Given the description of an element on the screen output the (x, y) to click on. 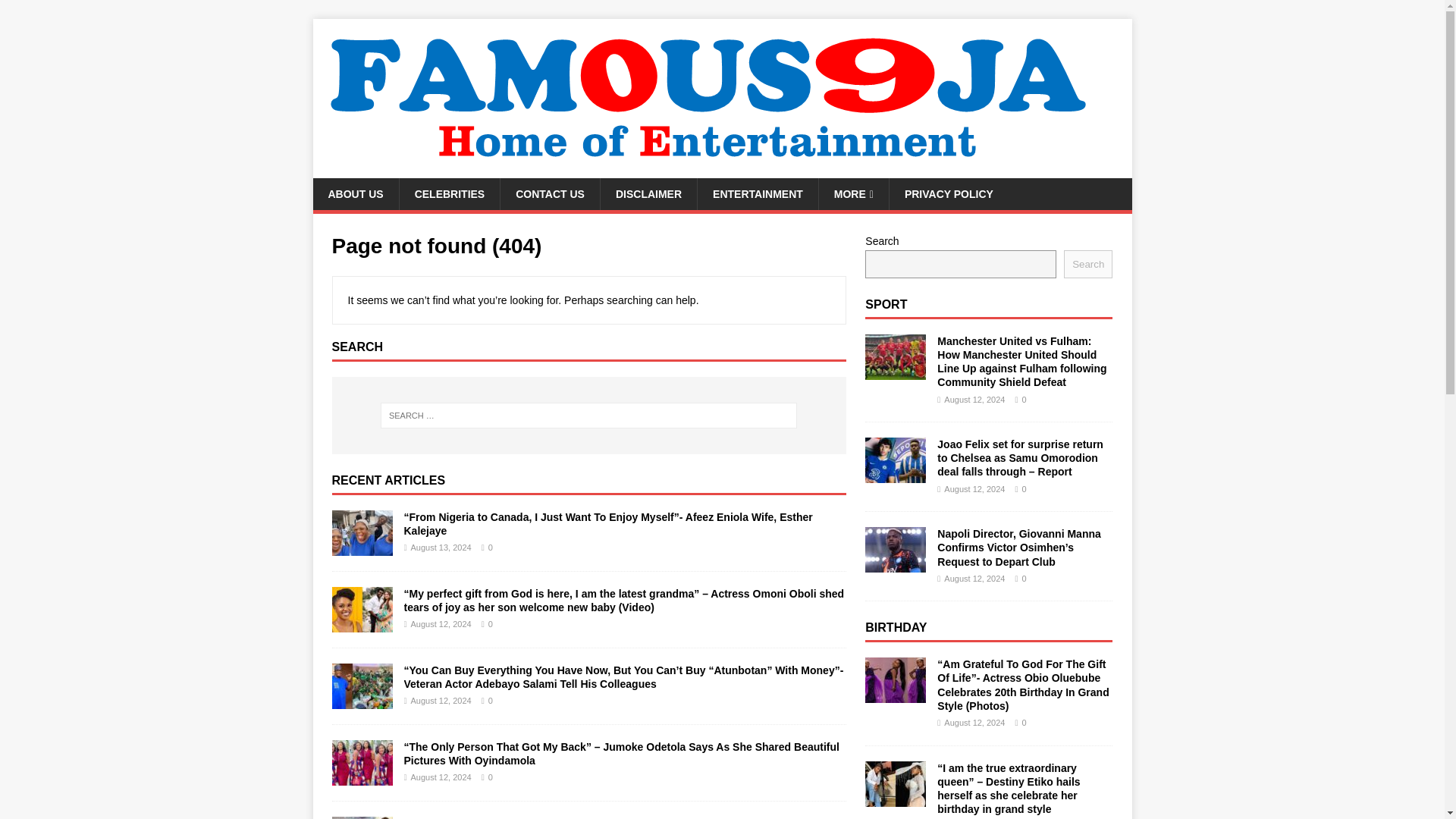
Search (56, 11)
CELEBRITIES (449, 193)
DISCLAIMER (648, 193)
CONTACT US (549, 193)
PRIVACY POLICY (948, 193)
ENTERTAINMENT (757, 193)
ABOUT US (355, 193)
MORE (853, 193)
